Given the description of an element on the screen output the (x, y) to click on. 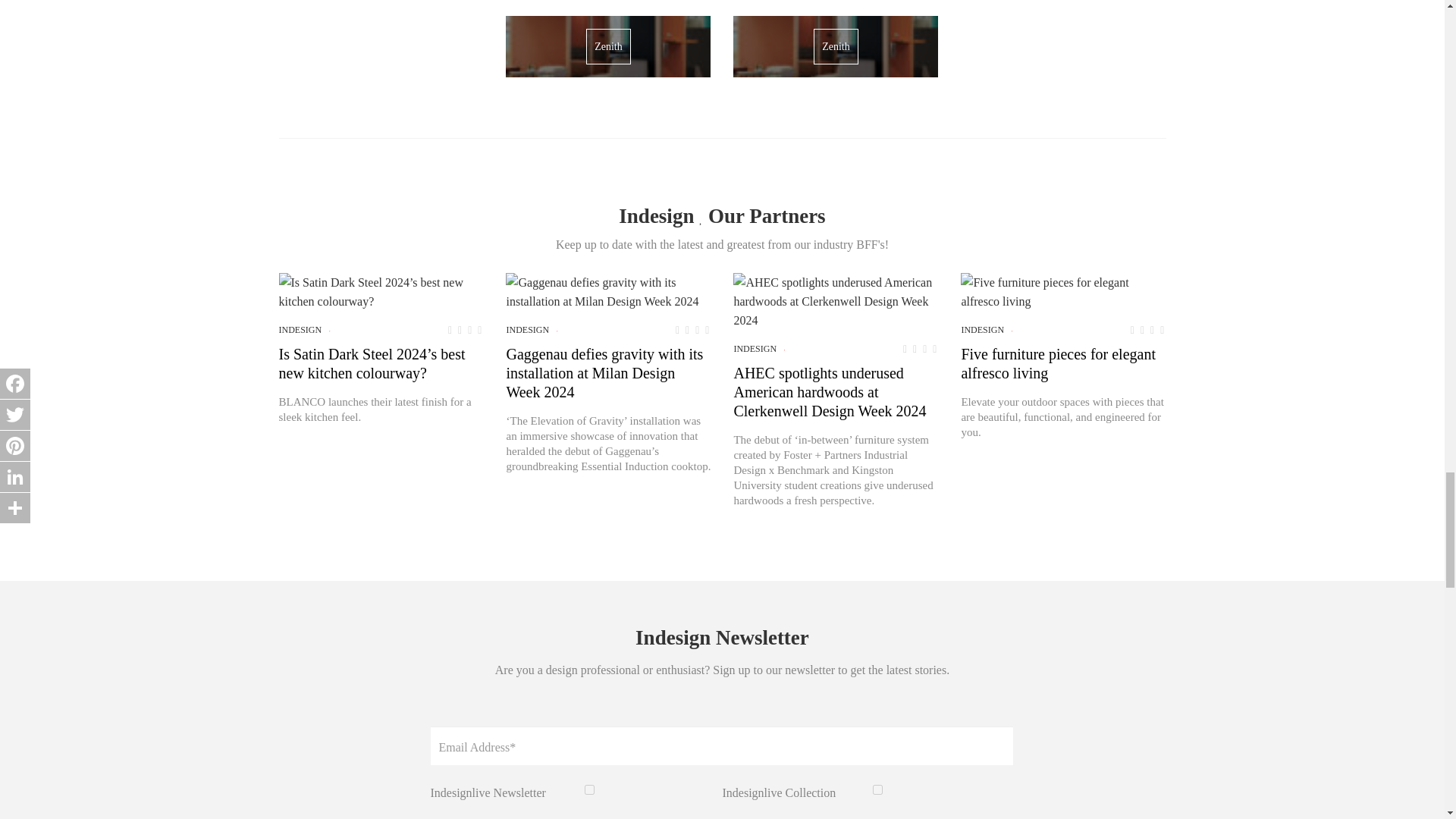
Five furniture pieces for elegant alfresco living (1063, 291)
yes (877, 789)
yes (589, 789)
